Given the description of an element on the screen output the (x, y) to click on. 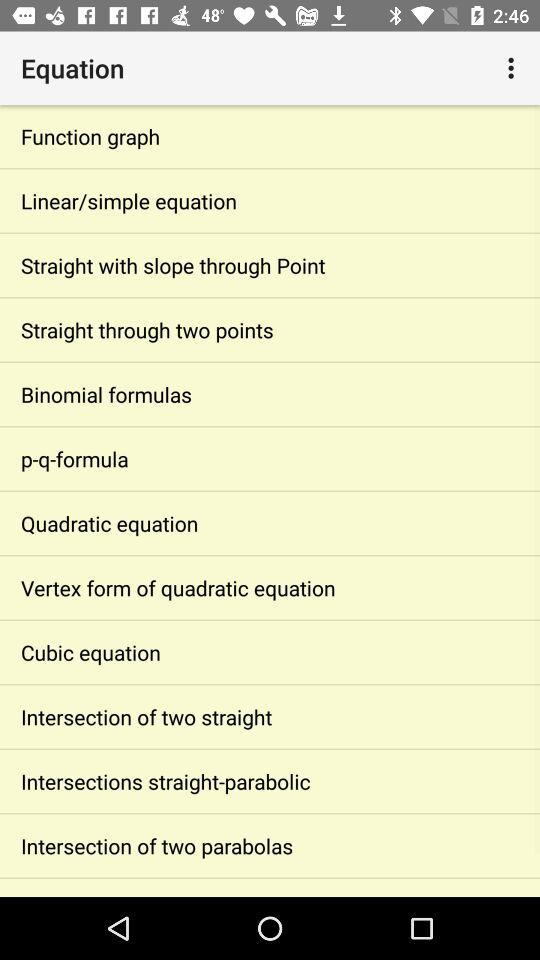
select icon to the right of the equation icon (513, 67)
